Given the description of an element on the screen output the (x, y) to click on. 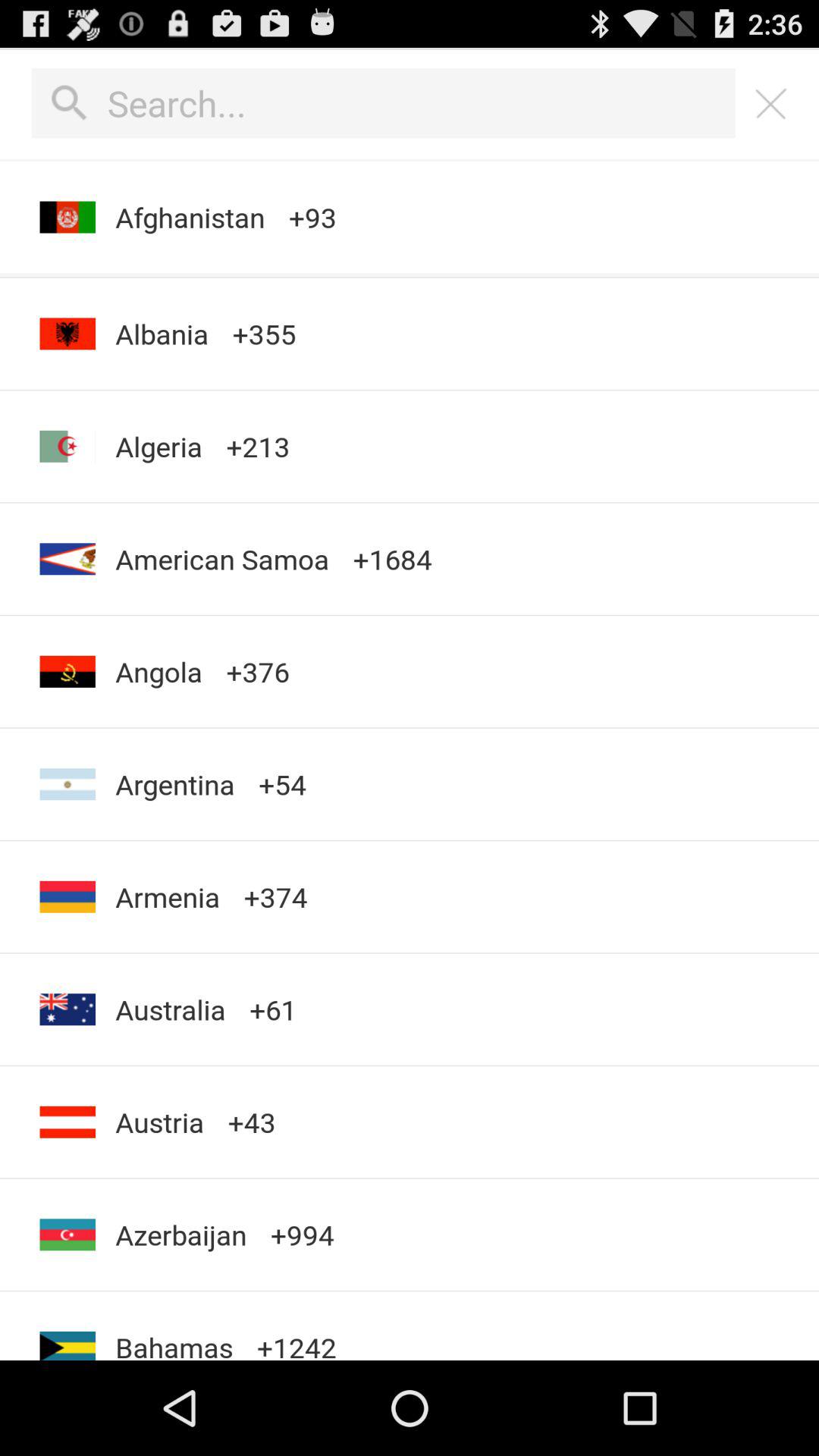
press icon next to the +374 app (167, 896)
